Given the description of an element on the screen output the (x, y) to click on. 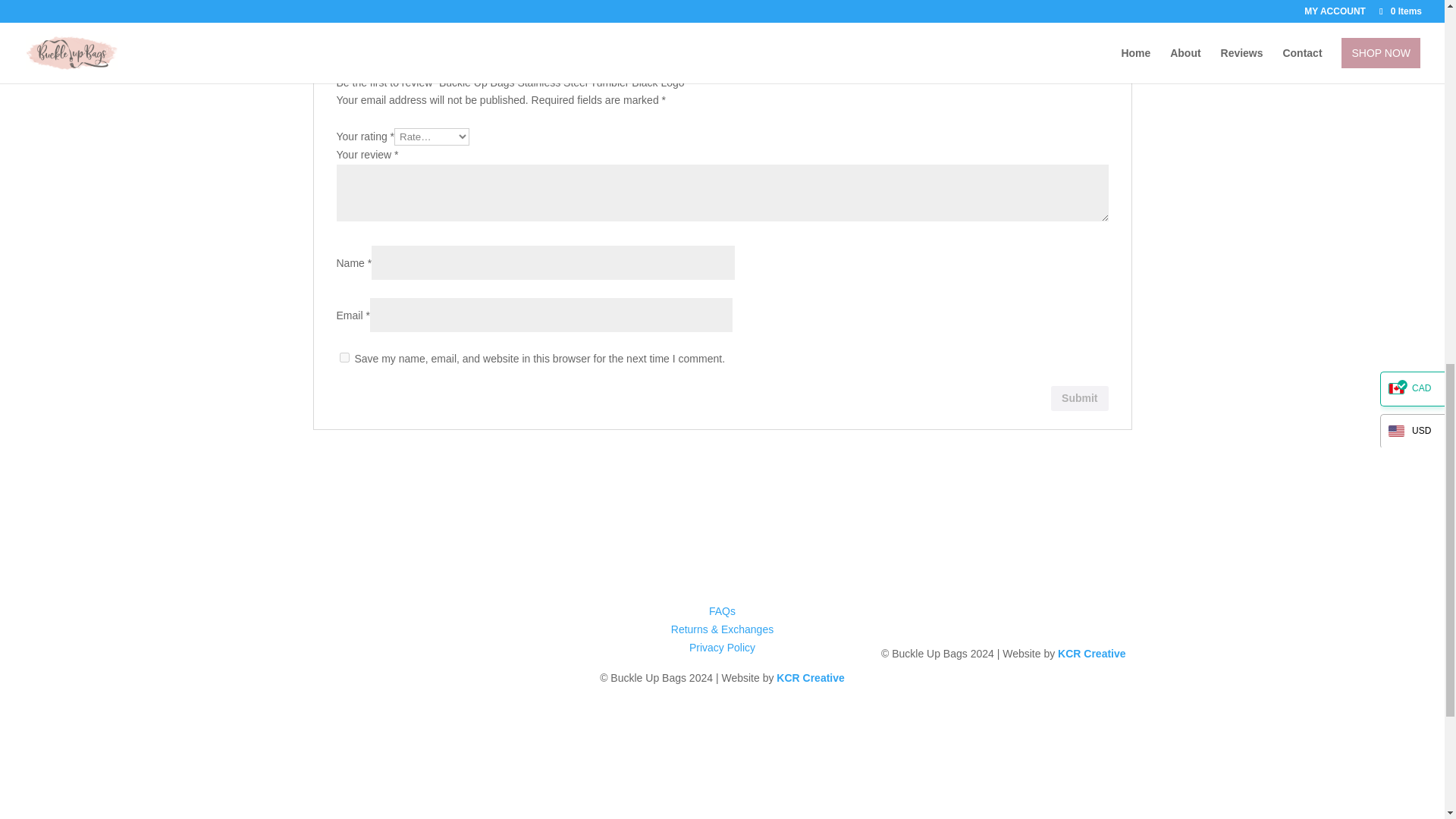
Submit (1079, 397)
Privacy Policy (721, 647)
FAQs (722, 611)
Follow on Facebook (972, 614)
KCR Creative (810, 677)
Submit (1079, 397)
yes (344, 357)
KCR Creative (1091, 653)
Follow on Pinterest (1033, 614)
Follow on Instagram (1002, 614)
